Given the description of an element on the screen output the (x, y) to click on. 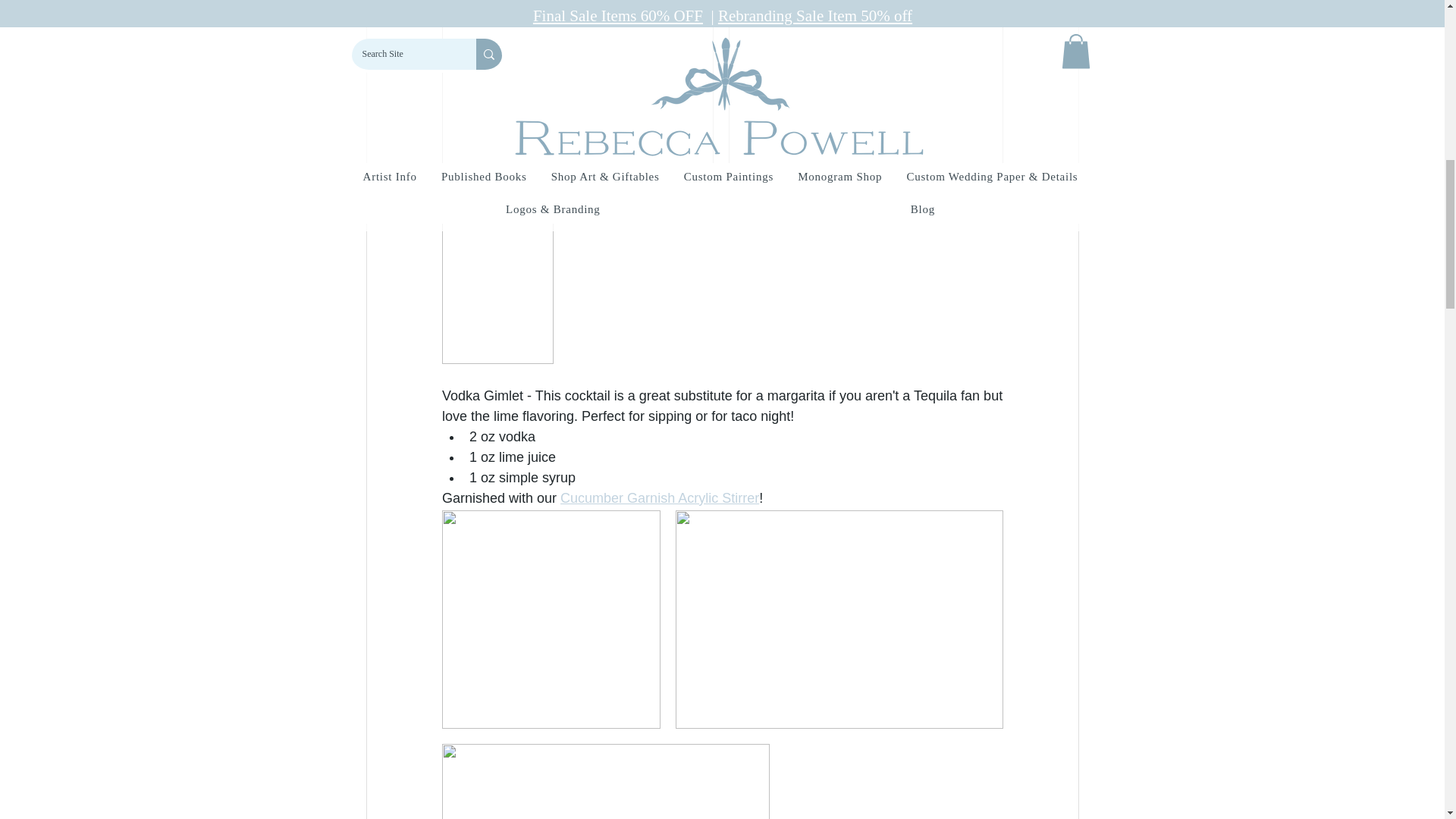
Cucumber Garnish Acrylic Stirrer (659, 498)
